Given the description of an element on the screen output the (x, y) to click on. 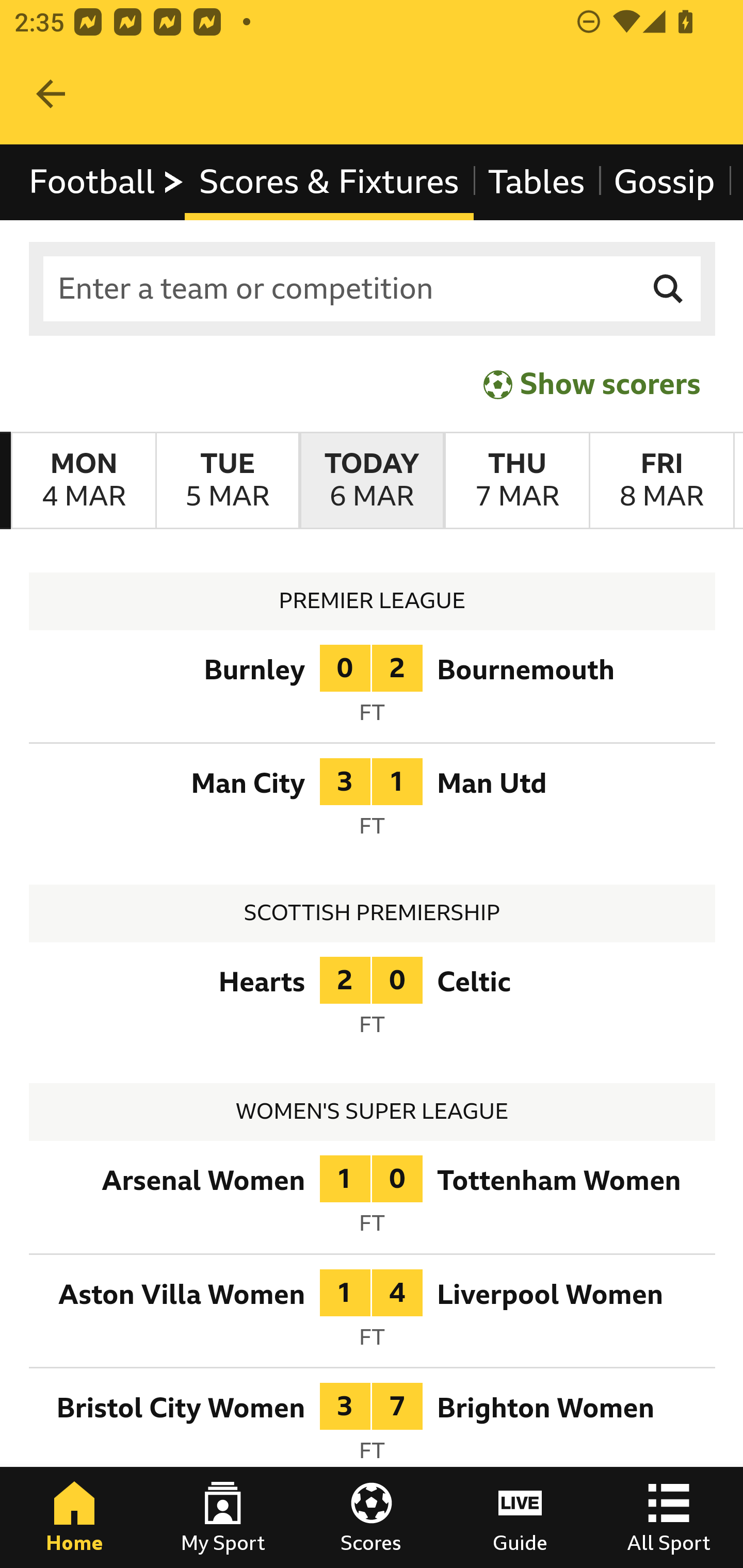
Navigate up (50, 93)
Football  (106, 181)
Scores & Fixtures (329, 181)
Tables (536, 181)
Gossip (664, 181)
Search (669, 289)
Show scorers (591, 383)
MondayMarch 4th Monday March 4th (83, 480)
TuesdayMarch 5th Tuesday March 5th (227, 480)
TodayMarch 6th Today March 6th (371, 480)
ThursdayMarch 7th Thursday March 7th (516, 480)
FridayMarch 8th Friday March 8th (661, 480)
68395538 Burnley 0 AFC Bournemouth 2 Full Time (372, 689)
68395495 Heart of Midlothian 2 Celtic 0 Full Time (372, 1002)
My Sport (222, 1517)
Scores (371, 1517)
Guide (519, 1517)
All Sport (668, 1517)
